Given the description of an element on the screen output the (x, y) to click on. 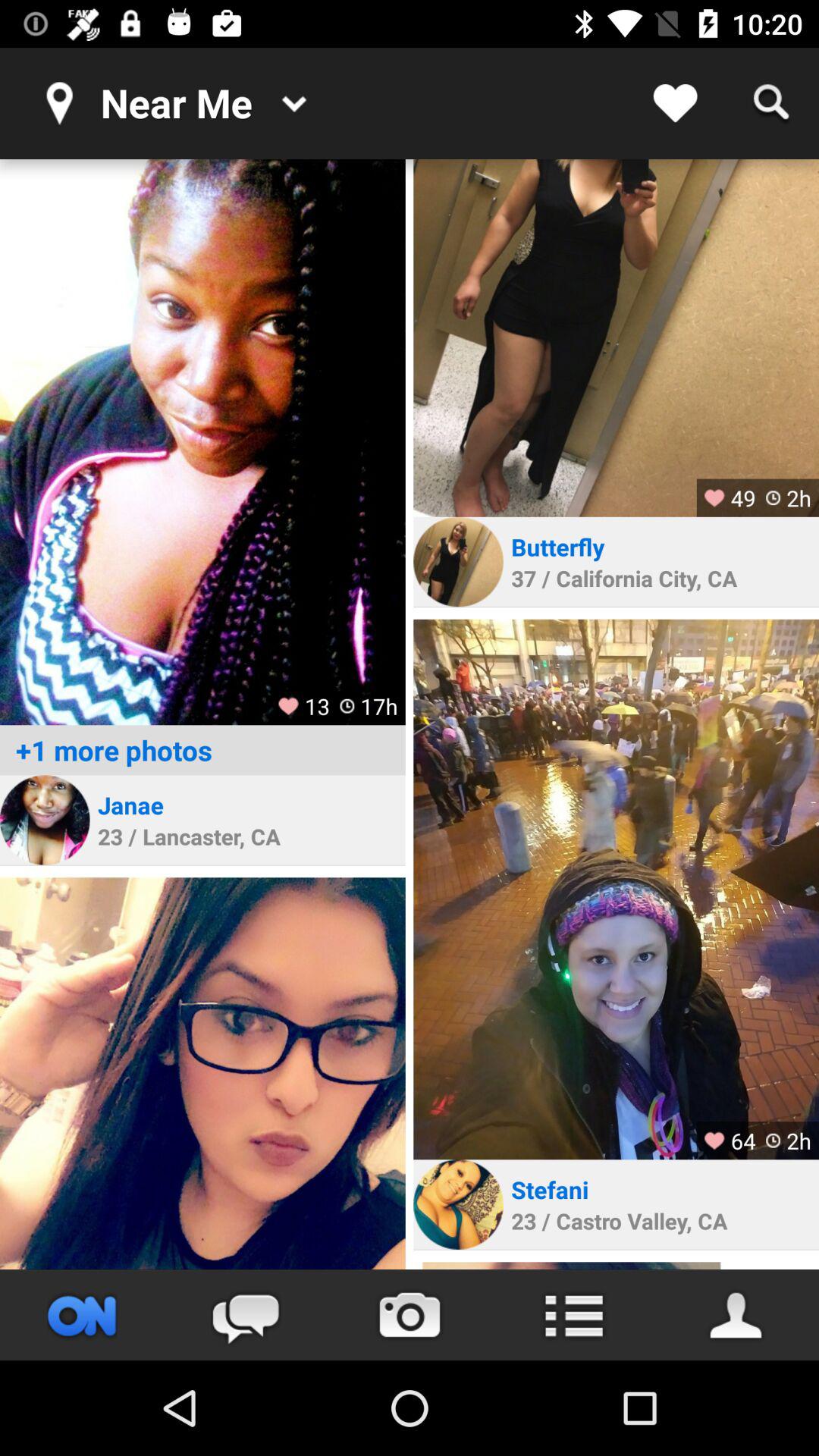
view personal settings (737, 1315)
